Given the description of an element on the screen output the (x, y) to click on. 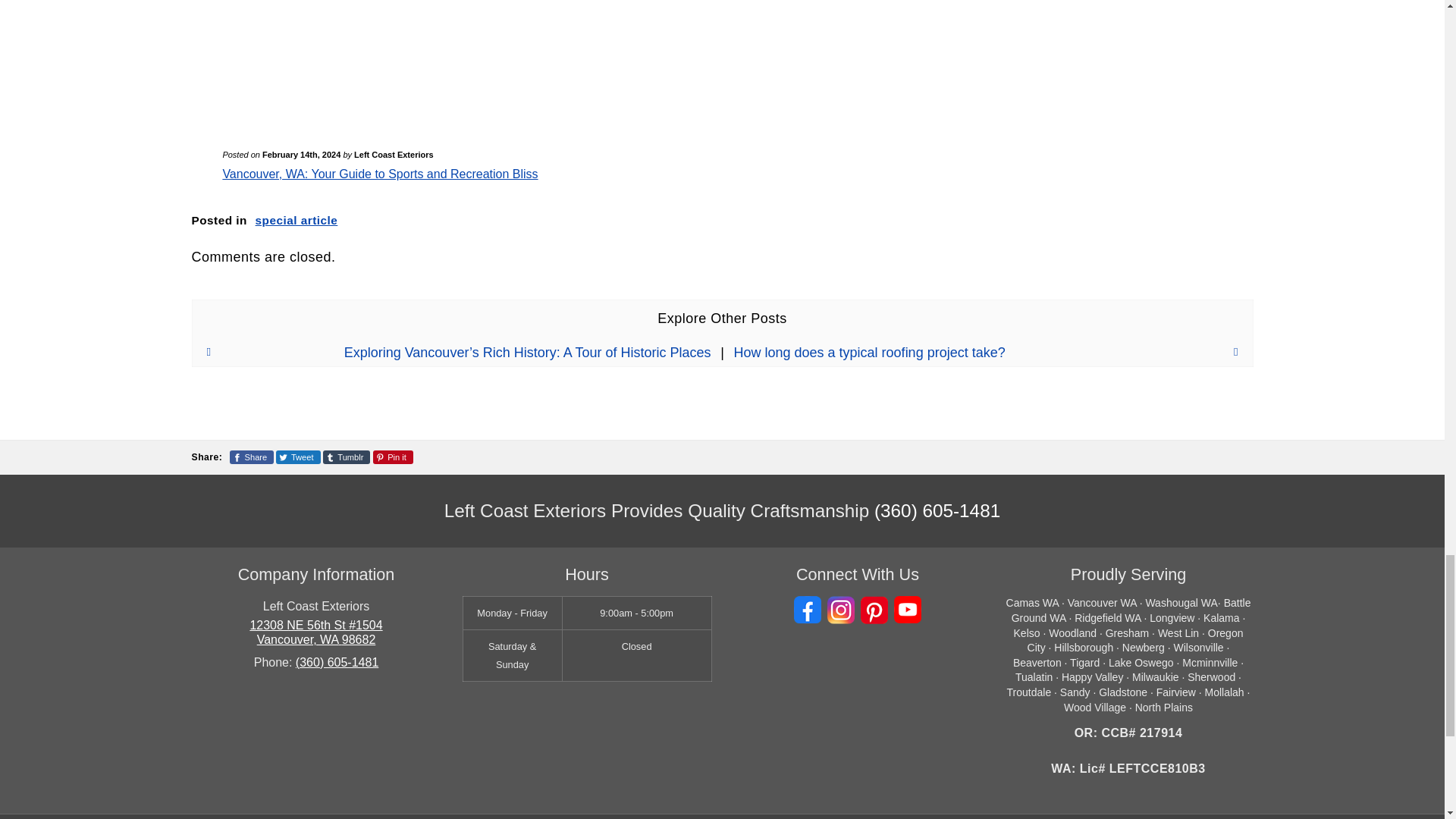
Vancouver, WA: Your Guide to Sports and Recreation Bliss (379, 173)
Instagram (840, 610)
Pin it (392, 457)
special article (296, 219)
YouTube (907, 610)
How long does a typical roofing project take? (993, 352)
Tumblr (347, 457)
Pinterest (874, 610)
Facebook (807, 610)
Tweet (298, 457)
Share (251, 457)
